Given the description of an element on the screen output the (x, y) to click on. 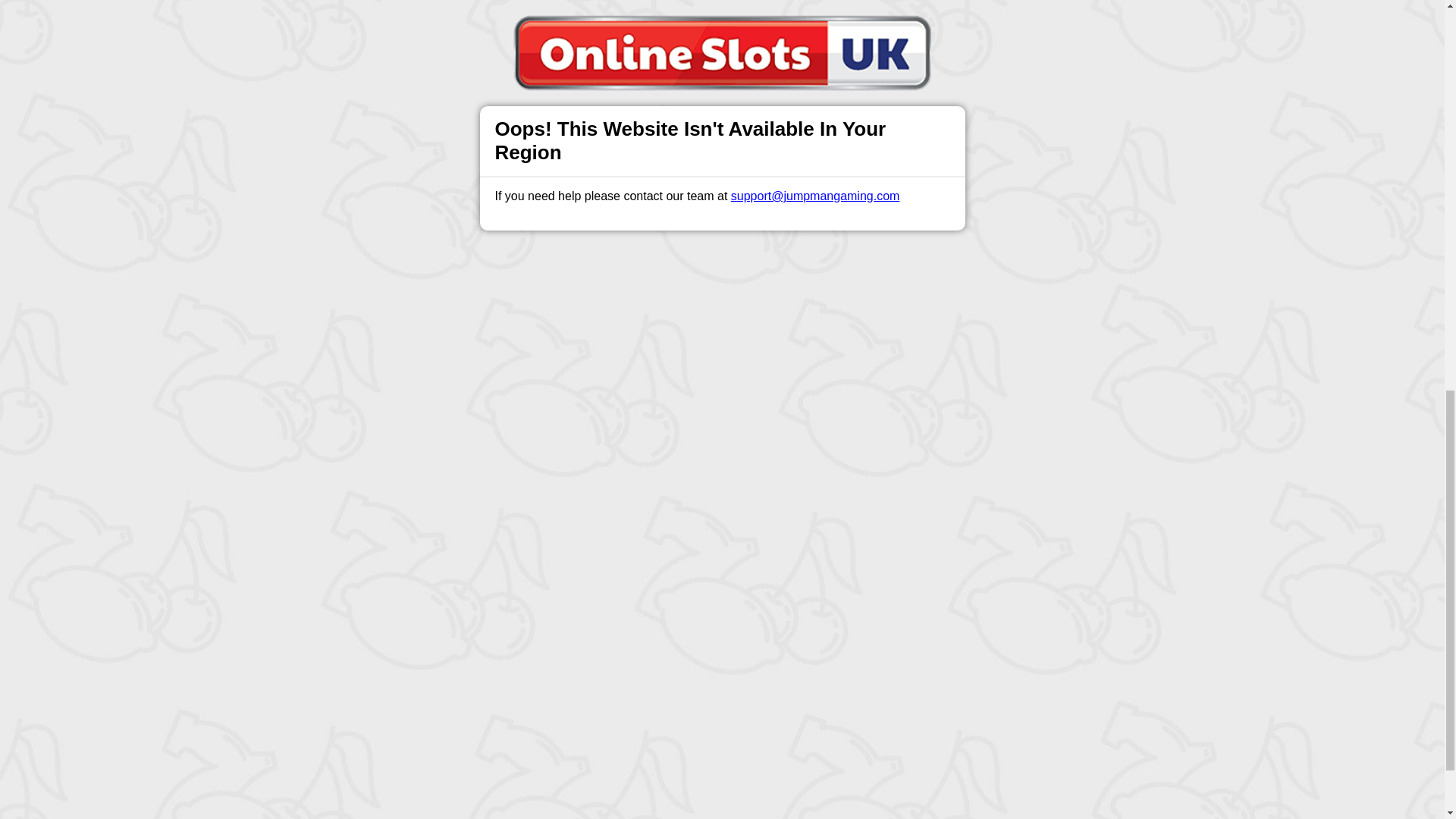
Privacy Policy (671, 571)
www.jumpmancares.co.uk (738, 737)
www.begambleaware.org (615, 737)
Affiliates (791, 571)
Help (489, 571)
Blog (738, 571)
Back To All Games (722, 473)
Responsible Gaming (407, 571)
Back To All Games (721, 473)
Jumpman Gaming Limited (537, 774)
